Given the description of an element on the screen output the (x, y) to click on. 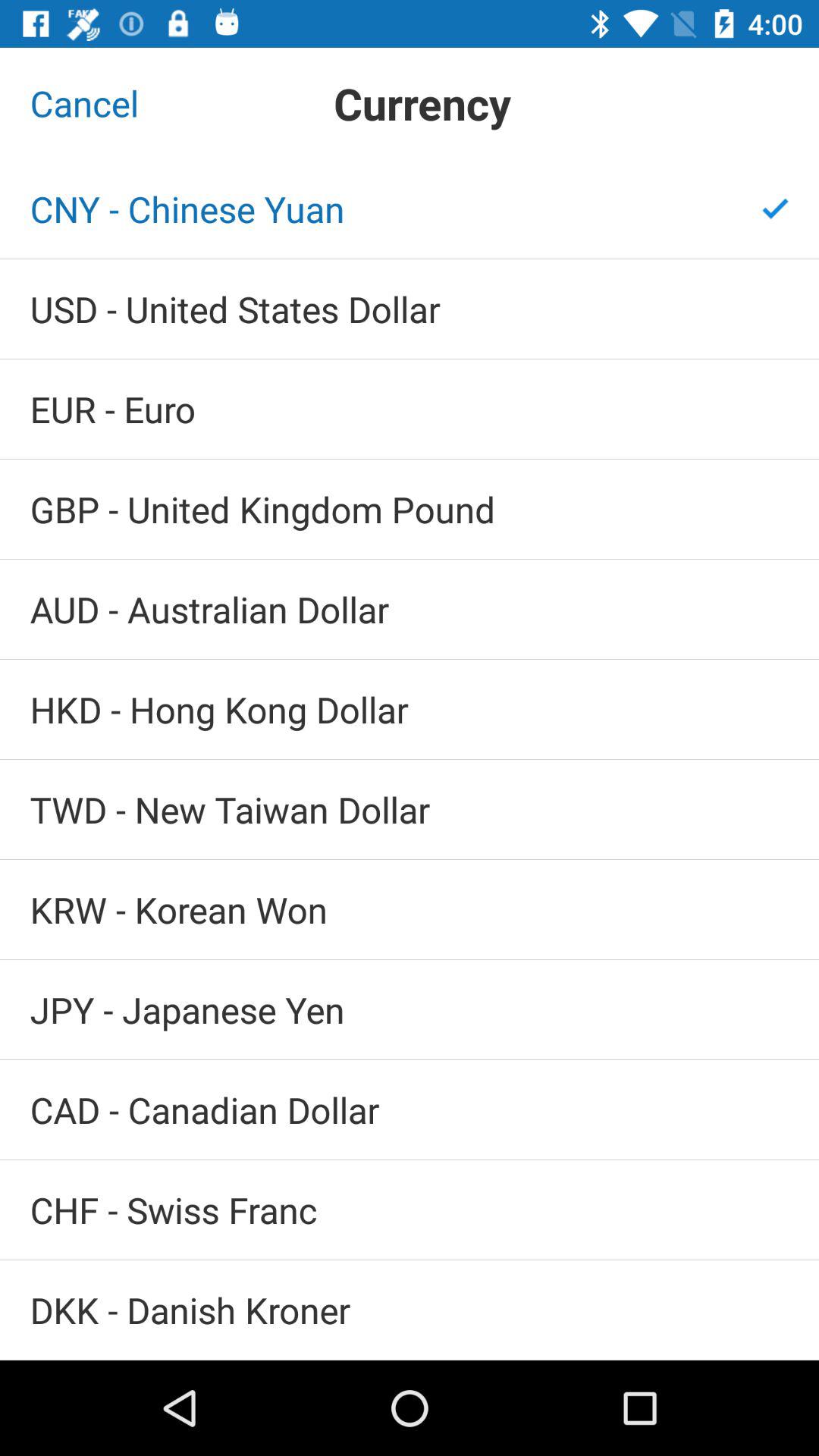
turn off jpy - japanese yen icon (409, 1009)
